Given the description of an element on the screen output the (x, y) to click on. 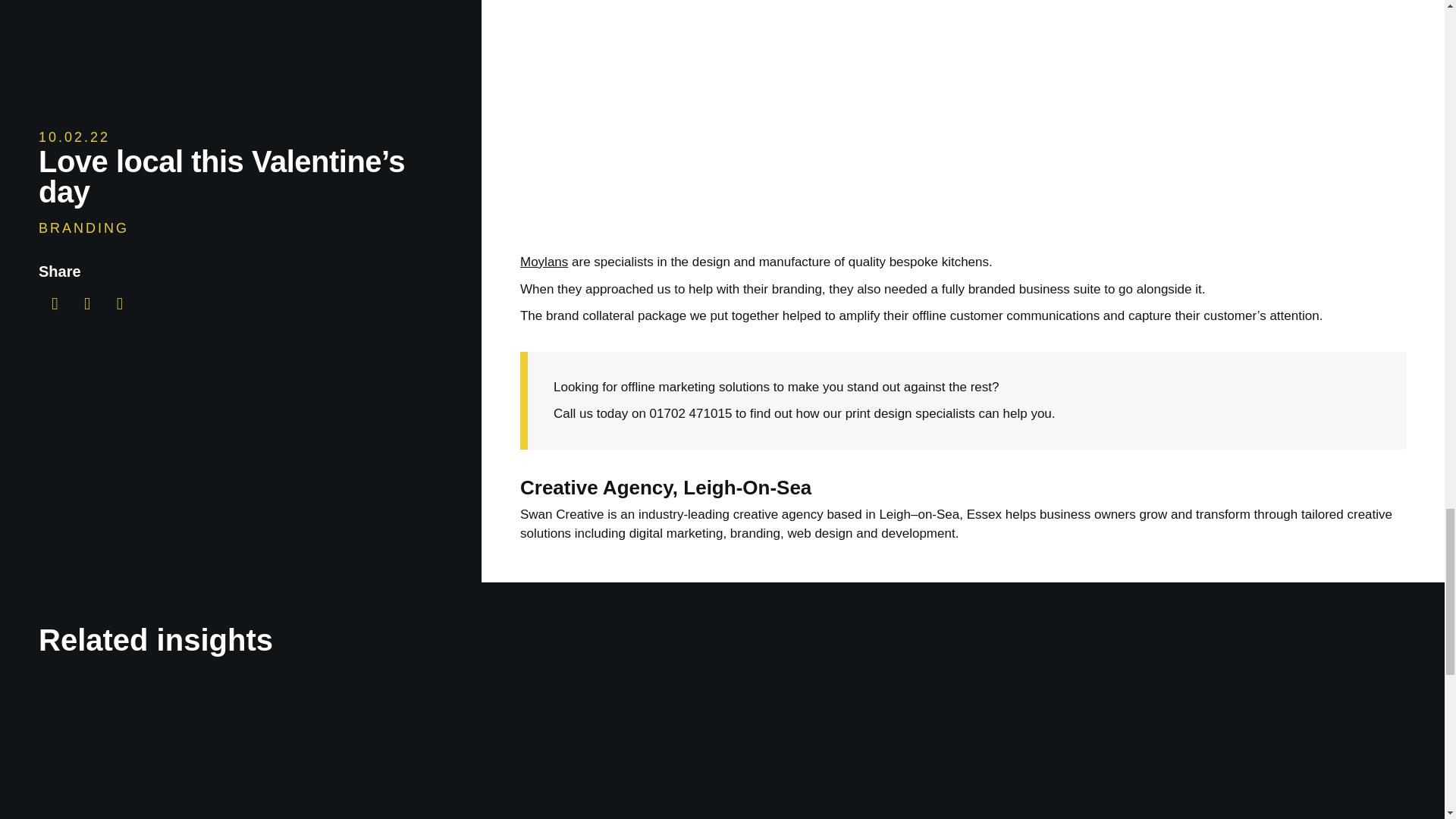
Moylans (543, 261)
